Given the description of an element on the screen output the (x, y) to click on. 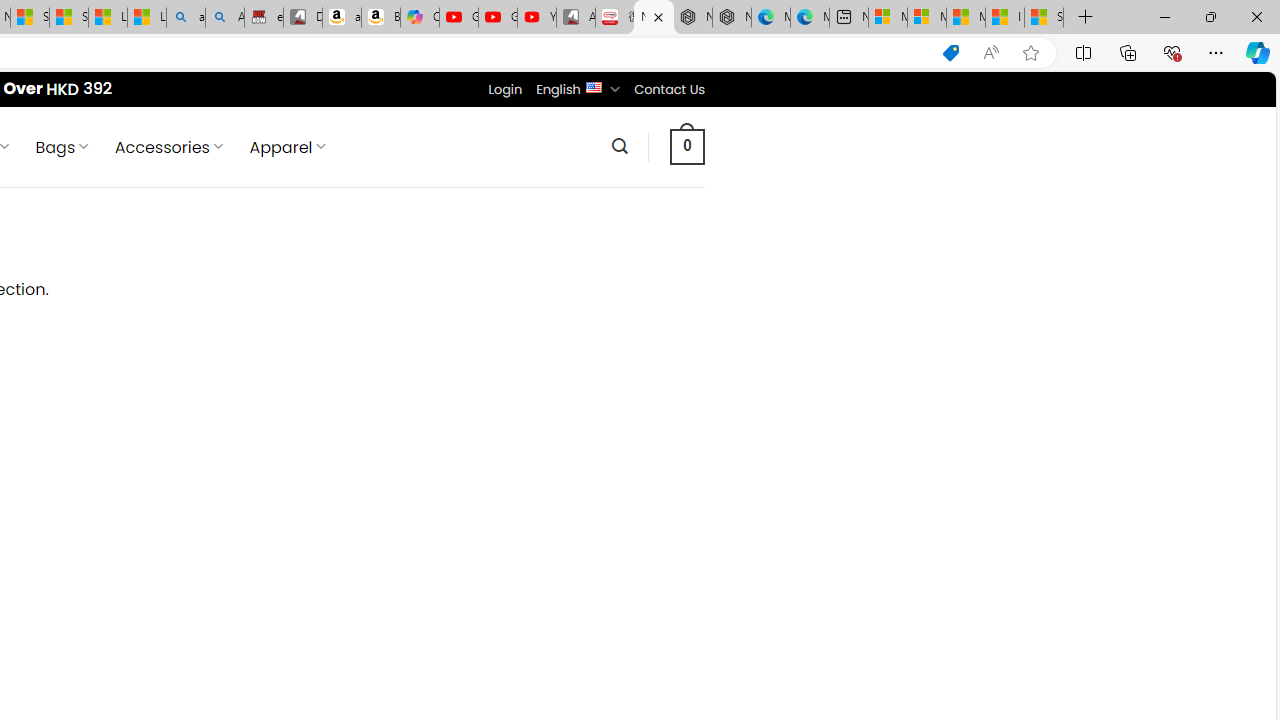
YouTube Kids - An App Created for Kids to Explore Content (536, 17)
